Given the description of an element on the screen output the (x, y) to click on. 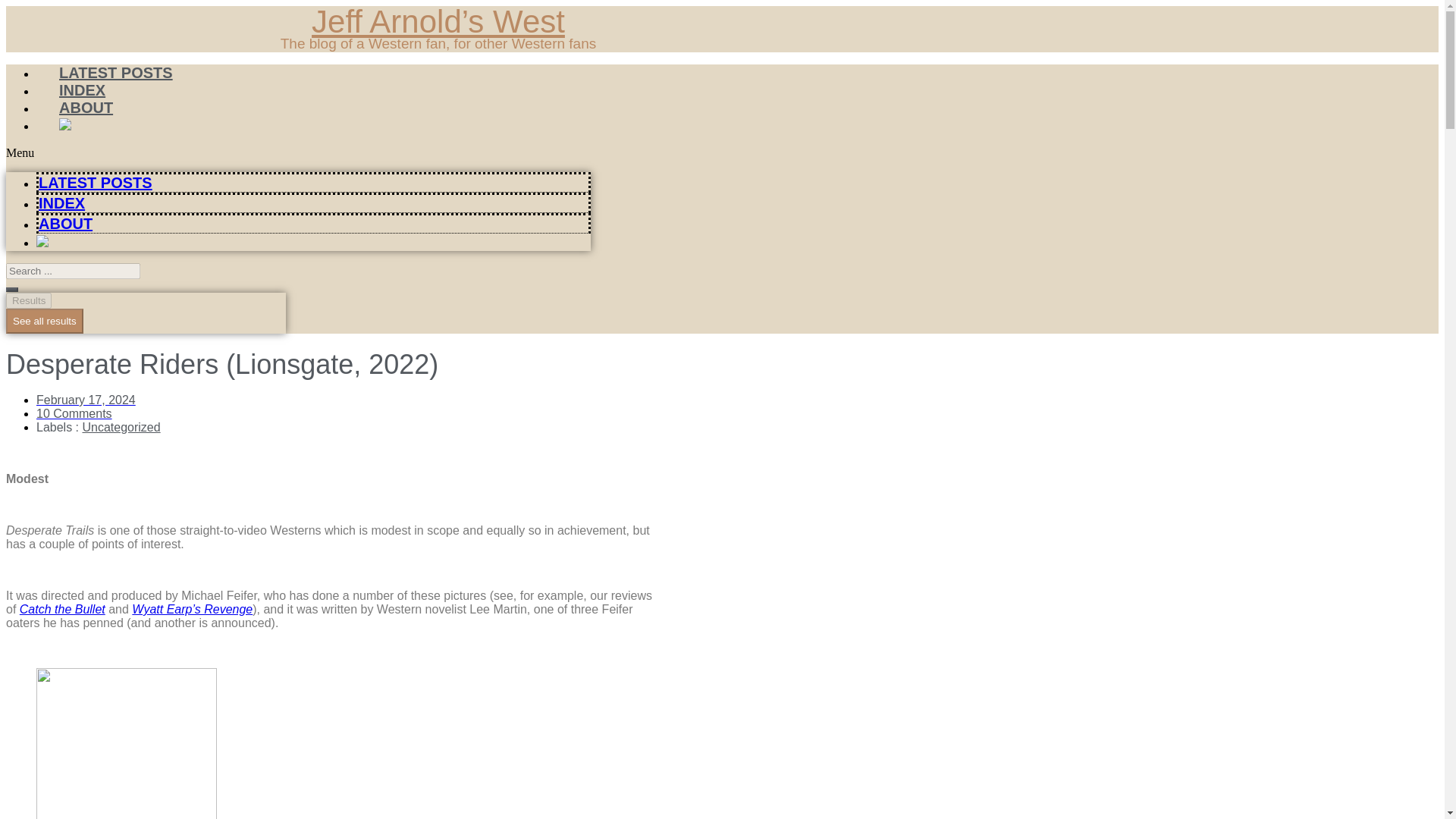
INDEX (61, 202)
February 17, 2024 (85, 399)
INDEX (82, 89)
ABOUT (66, 223)
Uncategorized (120, 427)
See all results (43, 320)
ABOUT (85, 107)
Catch the Bullet (62, 608)
Results (27, 300)
10 Comments (74, 413)
